Given the description of an element on the screen output the (x, y) to click on. 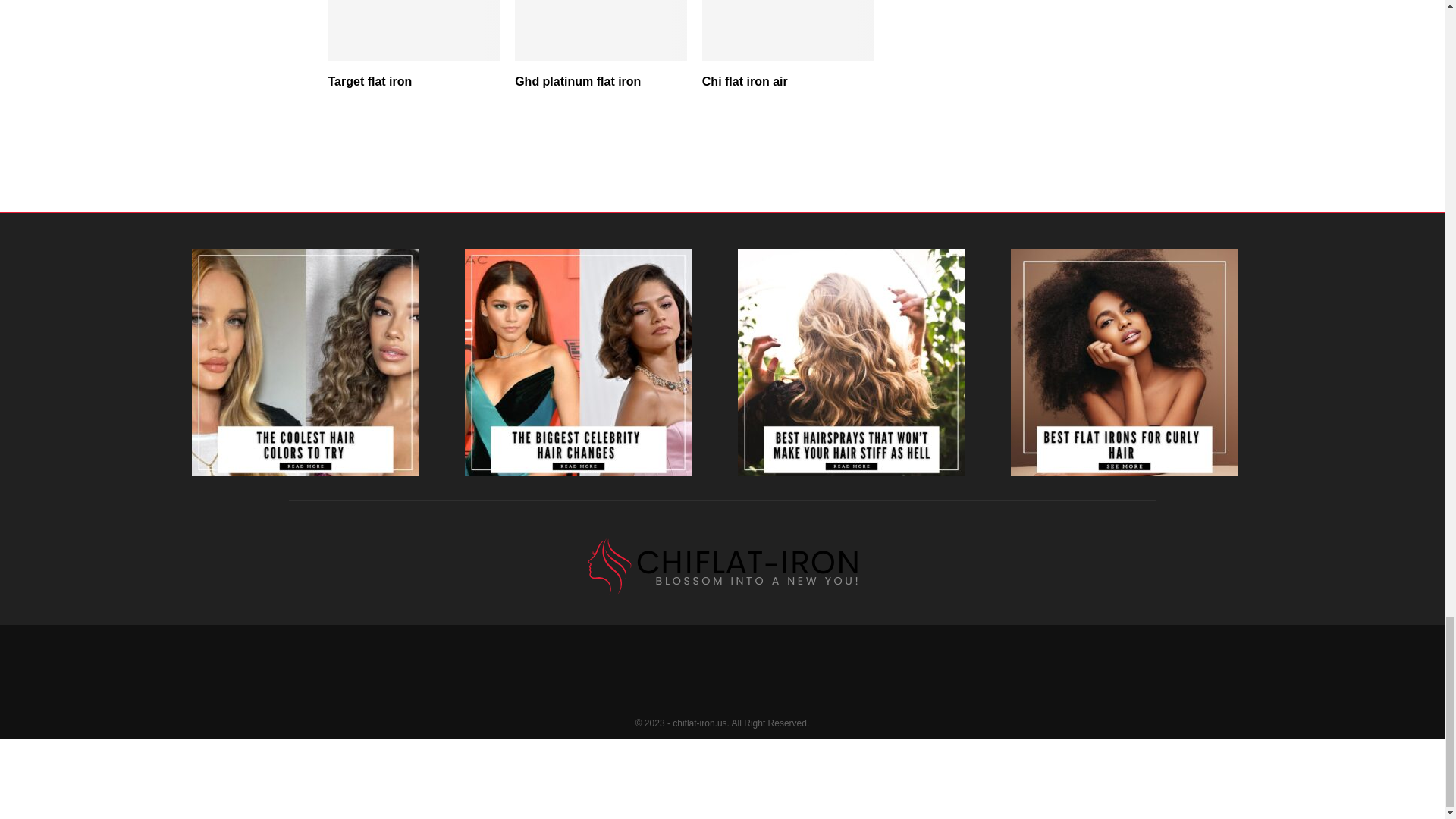
Chi flat iron air (744, 81)
Ghd platinum flat iron (577, 81)
Target flat iron (369, 81)
